Given the description of an element on the screen output the (x, y) to click on. 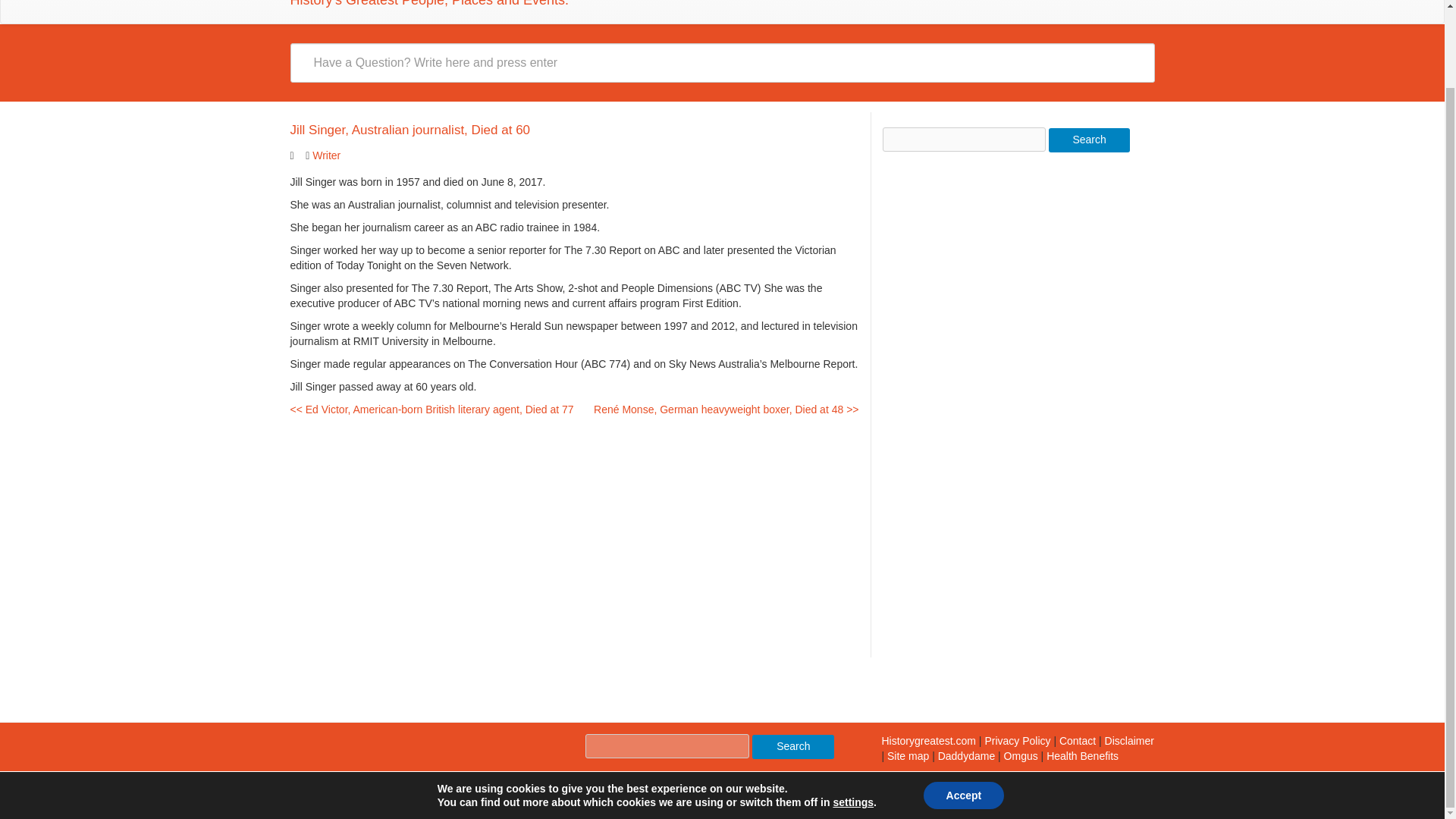
settings (852, 714)
Historygreatest.com (927, 740)
Search (1089, 139)
Site map (907, 756)
Omgus (1021, 756)
Advertisement (995, 402)
Search (793, 746)
Search (1089, 139)
Disclaimer (1129, 740)
Accept (963, 707)
Writer (326, 155)
Health Benefits (1082, 756)
Al Gore (1016, 740)
MyWiki WordPress Theme (411, 784)
